Given the description of an element on the screen output the (x, y) to click on. 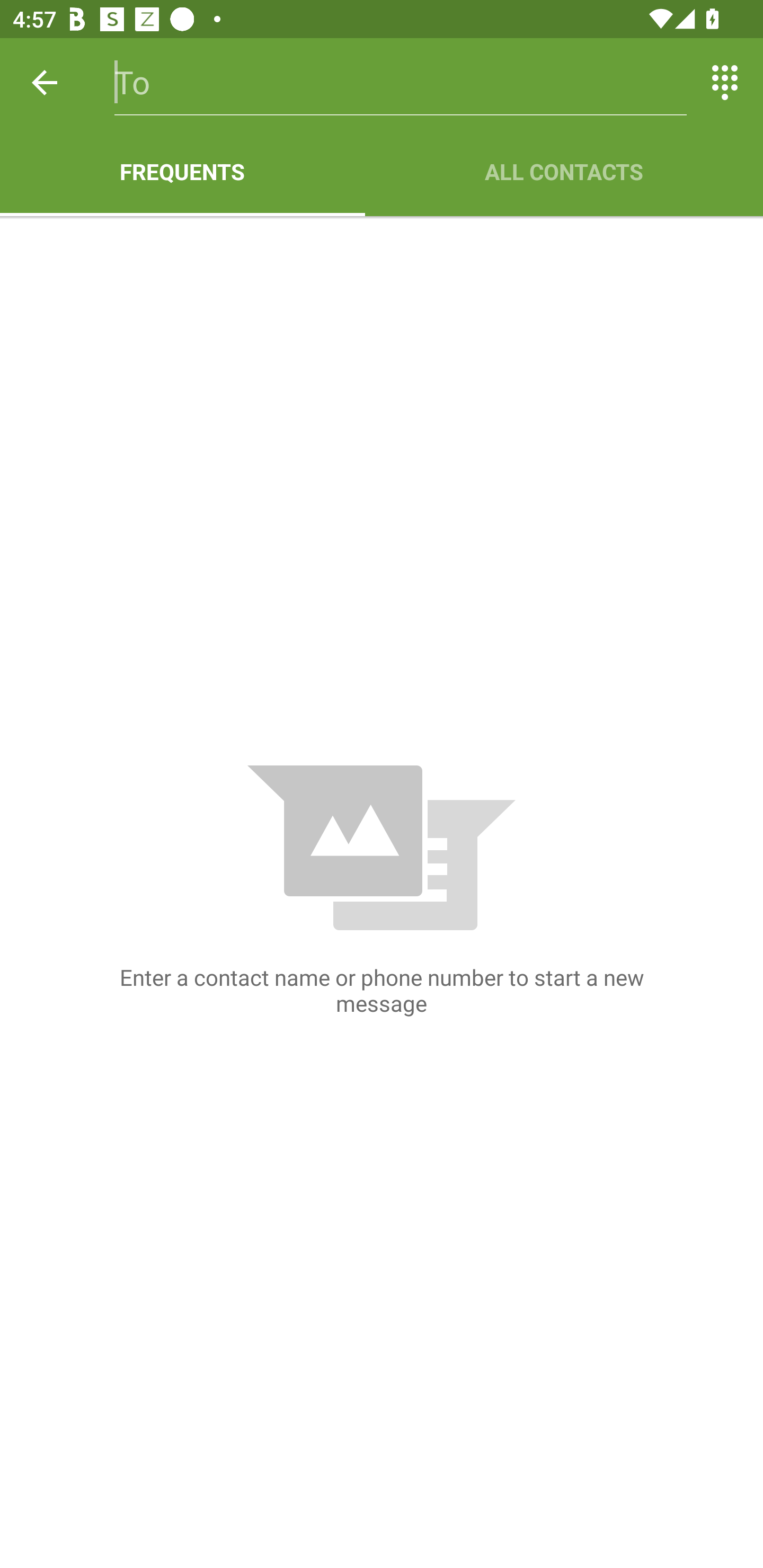
Back (44, 82)
Switch between entering text and numbers (724, 81)
To (400, 82)
FREQUENTS (182, 171)
ALL CONTACTS (563, 171)
